Given the description of an element on the screen output the (x, y) to click on. 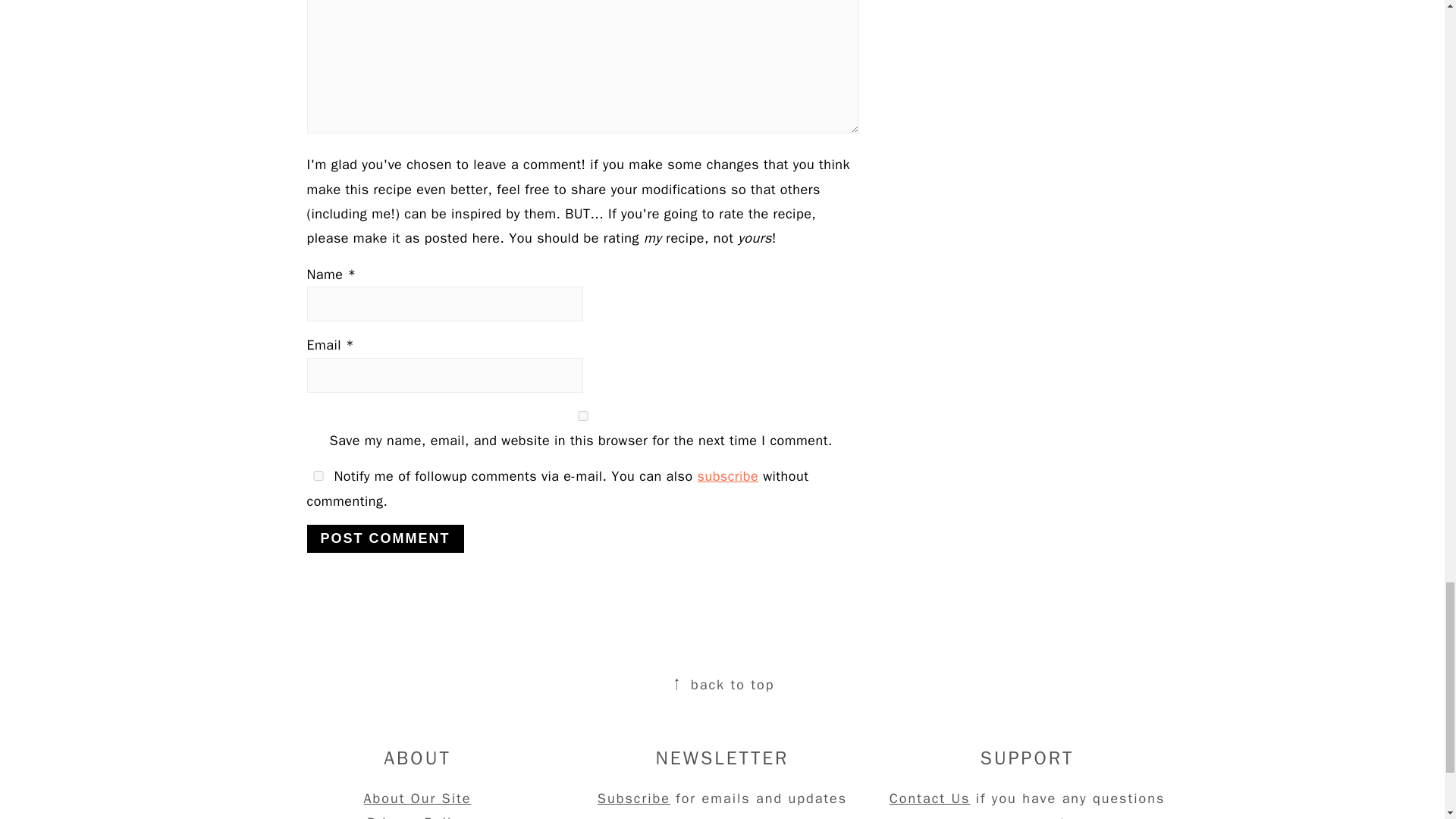
Post Comment (384, 538)
replies (317, 475)
Post Comment (384, 538)
subscribe (727, 475)
About Our Site (417, 798)
yes (582, 415)
Privacy Policy (417, 816)
